Given the description of an element on the screen output the (x, y) to click on. 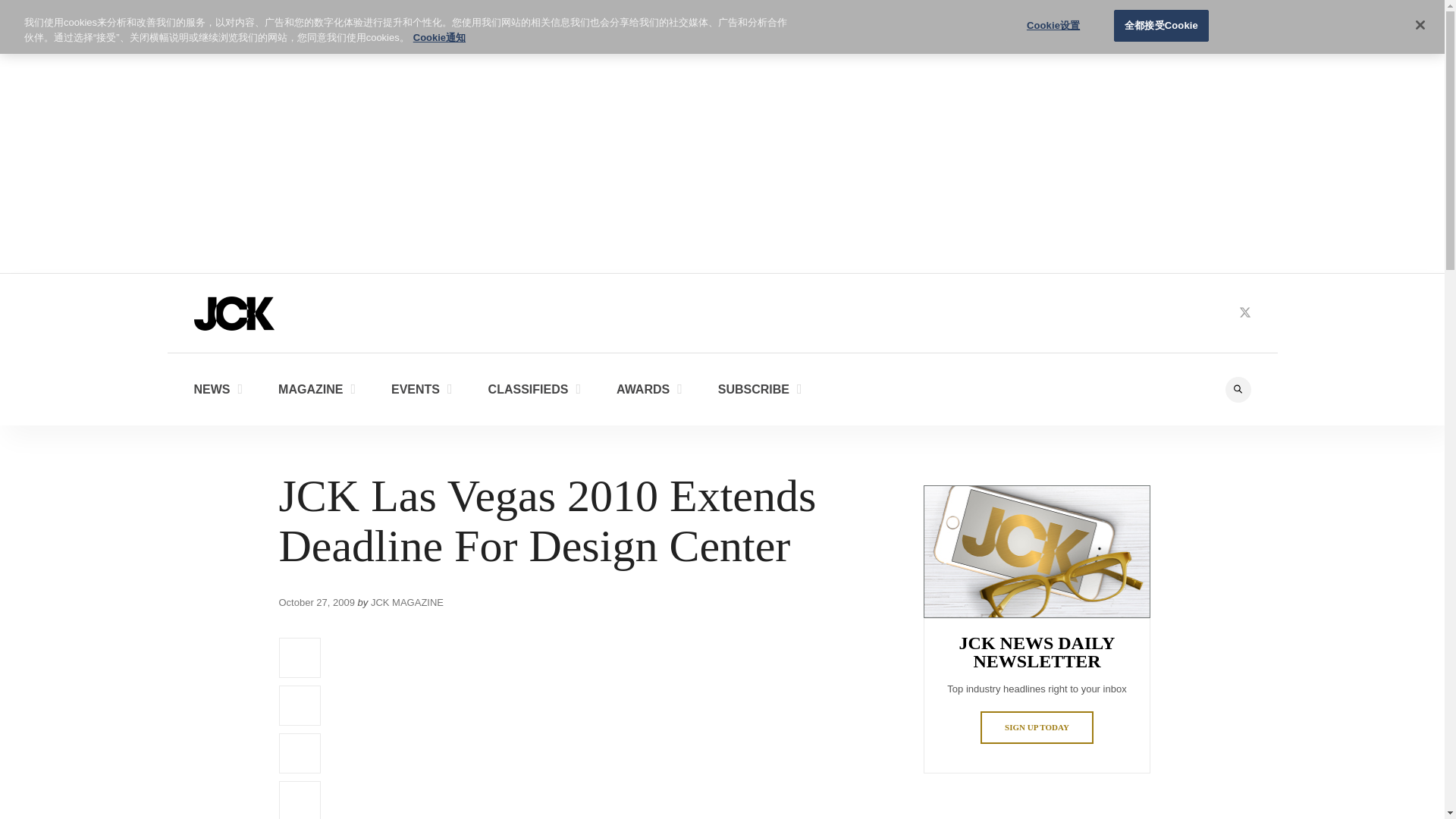
EVENTS (421, 388)
MAGAZINE (316, 388)
JCK (234, 312)
NEWS (218, 388)
